Given the description of an element on the screen output the (x, y) to click on. 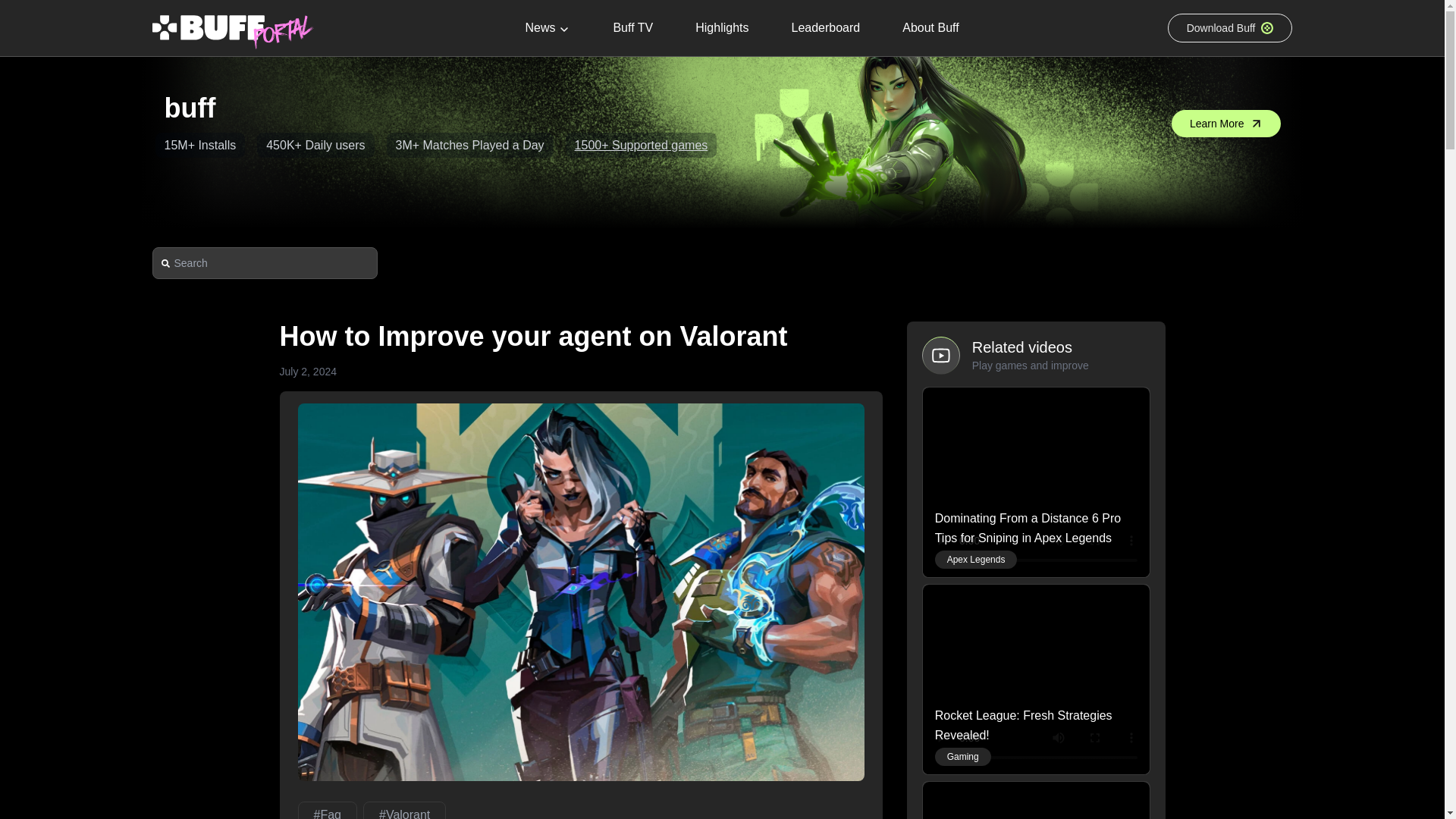
Leaderboard (825, 28)
News (547, 28)
Buff TV (633, 28)
Learn More (1226, 123)
About Buff (930, 28)
Highlights (721, 28)
Download Buff (1229, 27)
